Given the description of an element on the screen output the (x, y) to click on. 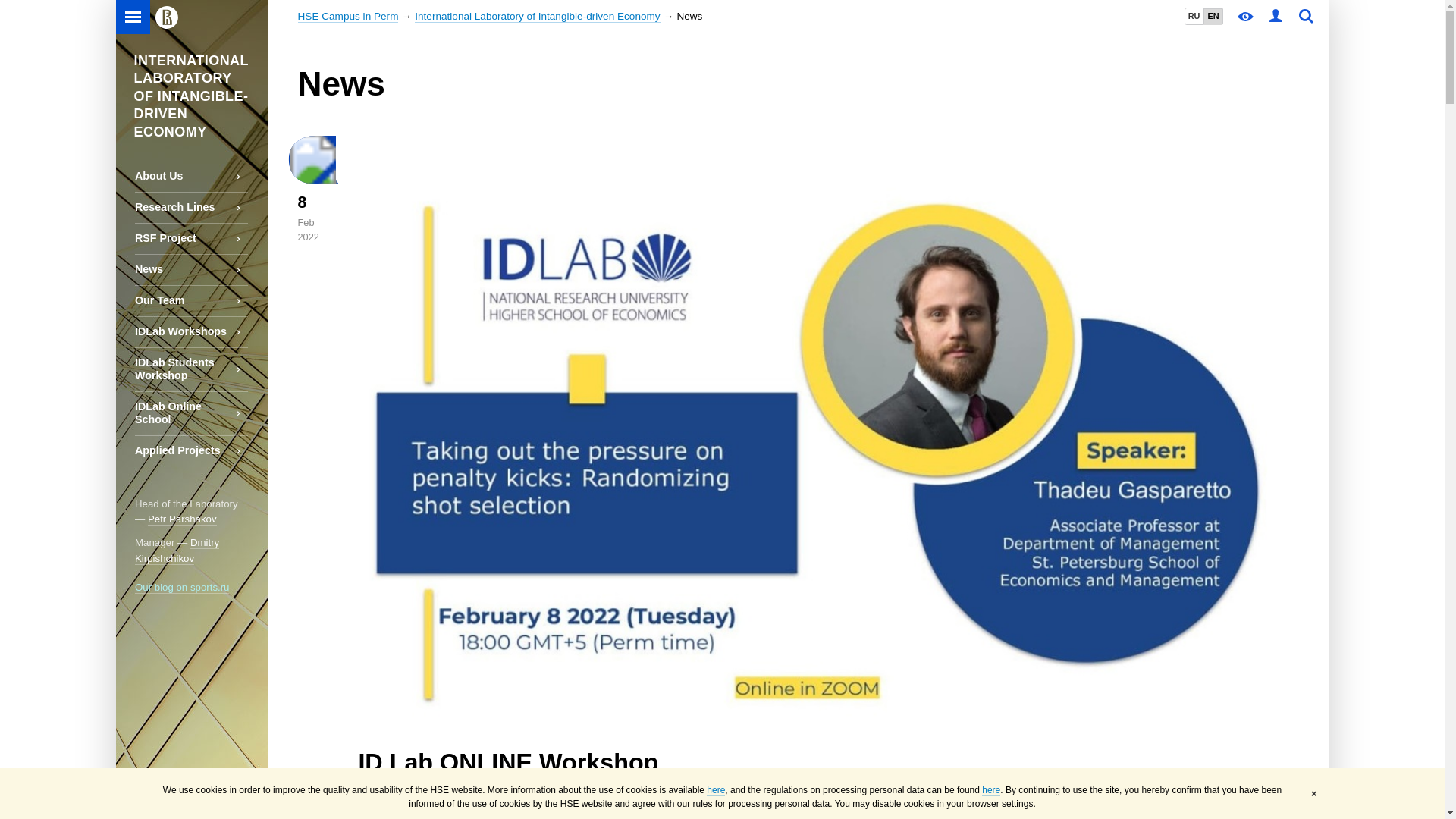
RU (1194, 16)
HSE Campus in Perm (347, 16)
here (715, 790)
INTERNATIONAL LABORATORY OF INTANGIBLE-DRIVEN ECONOMY (190, 91)
About Us (191, 176)
here (990, 790)
International Laboratory of Intangible-driven Economy (536, 16)
